Given the description of an element on the screen output the (x, y) to click on. 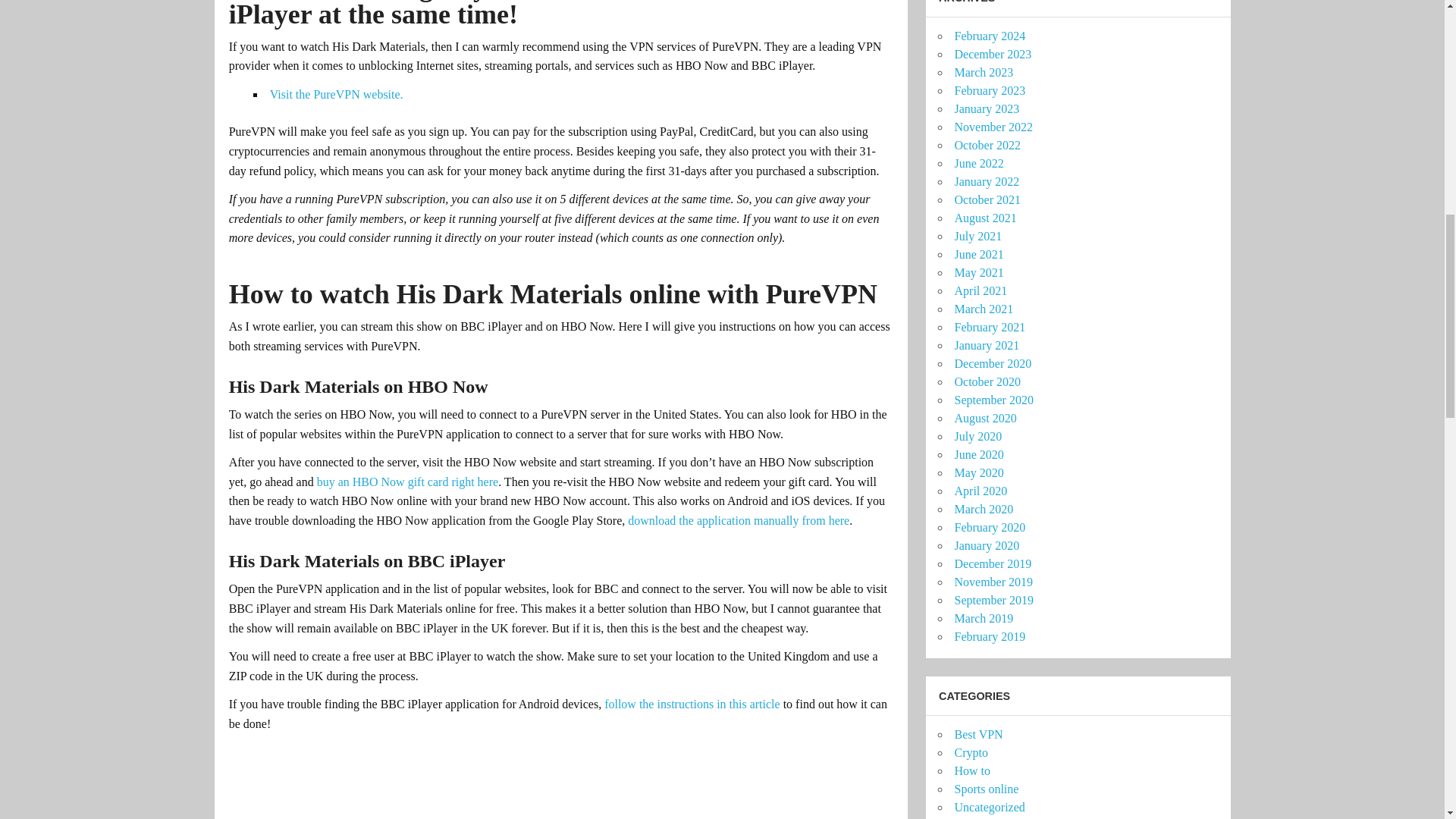
Visit the PureVPN website. (336, 93)
download the application manually from here (737, 520)
follow the instructions in this article (692, 703)
buy an HBO Now gift card right here (408, 481)
